Given the description of an element on the screen output the (x, y) to click on. 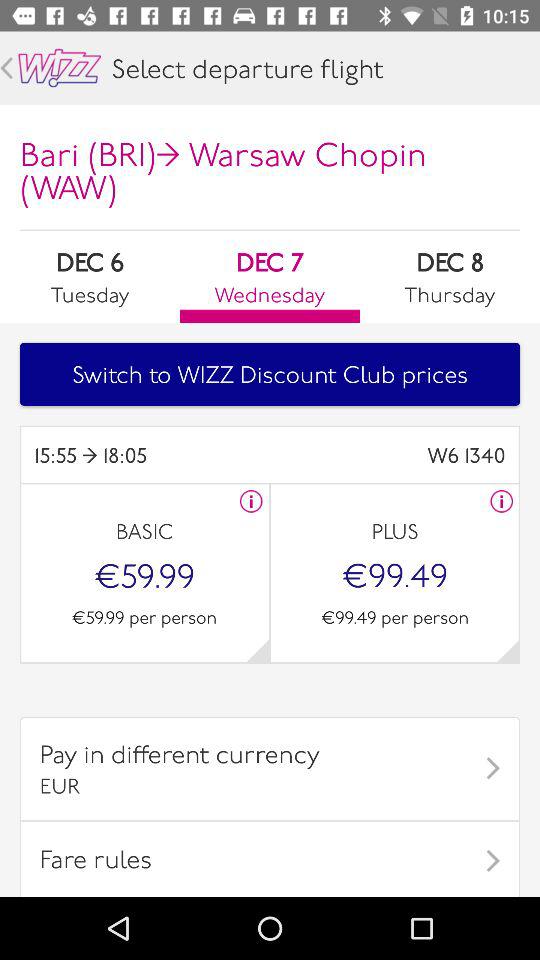
go to homepage (59, 68)
